Given the description of an element on the screen output the (x, y) to click on. 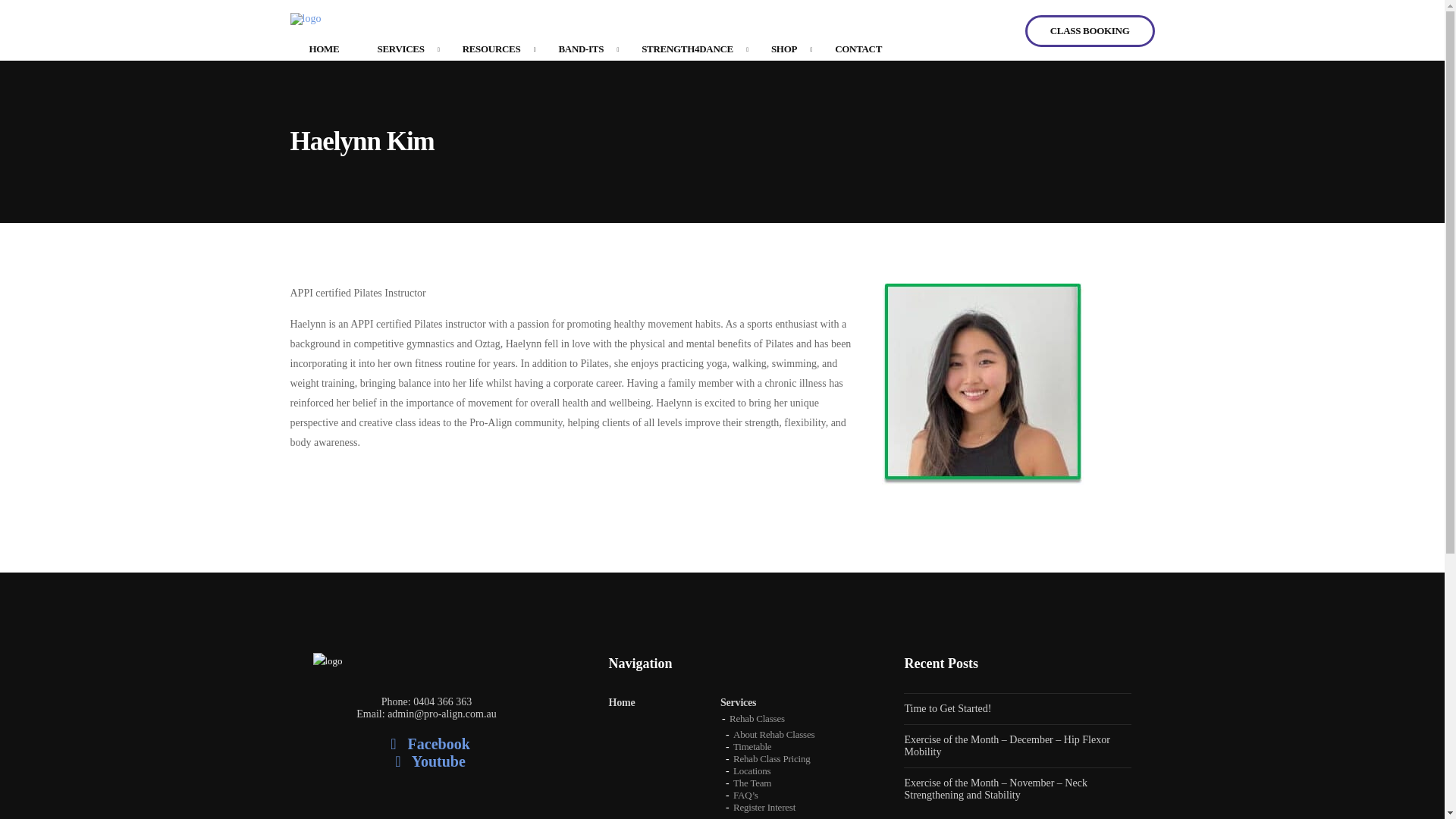
RESOURCES (492, 48)
BAND-ITS (580, 48)
SHOP (783, 48)
SERVICES (400, 48)
HOME (323, 48)
CLASS BOOKING (1089, 30)
CONTACT (858, 48)
STRENGTH4DANCE (687, 48)
